Given the description of an element on the screen output the (x, y) to click on. 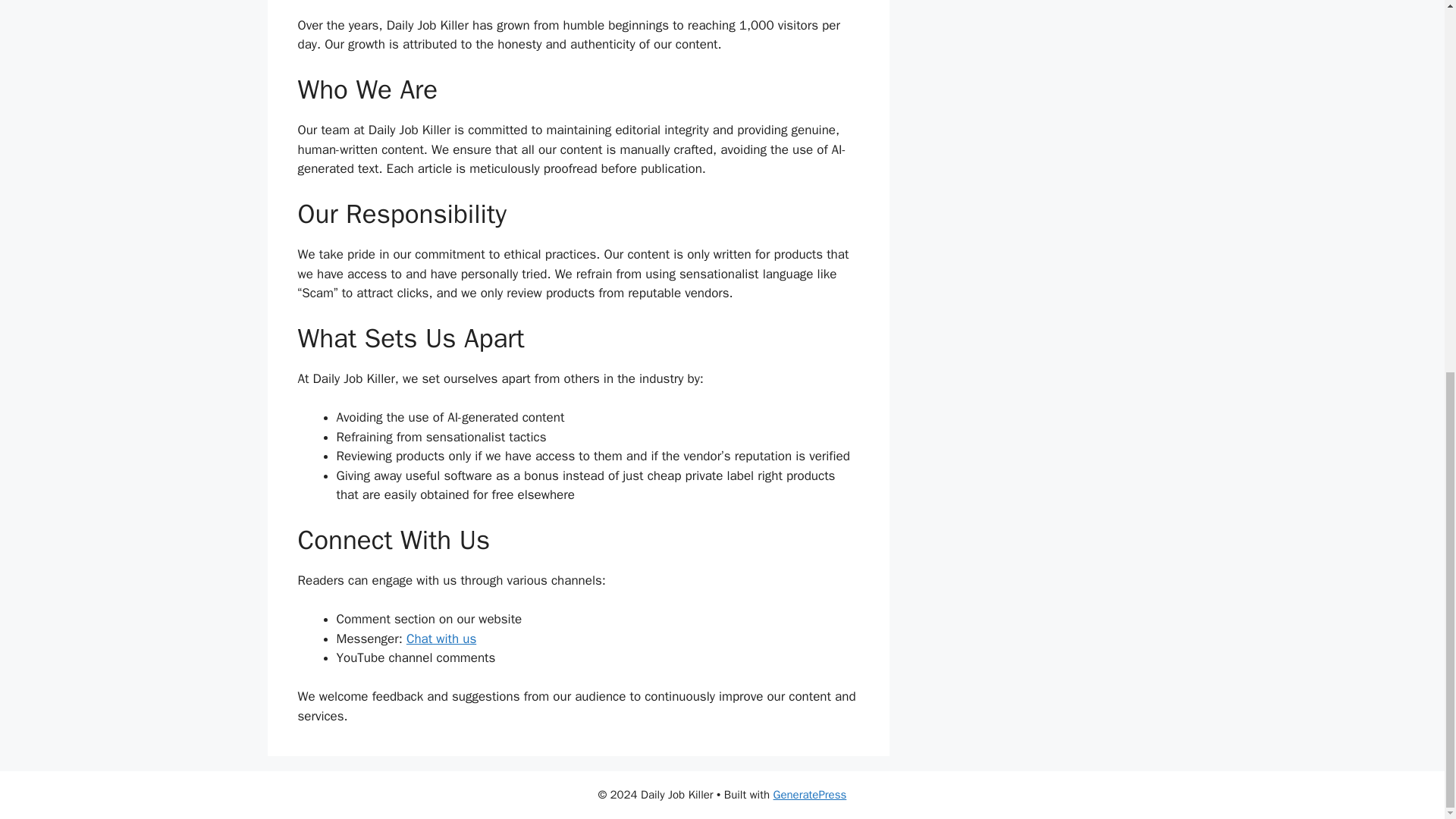
GeneratePress (810, 794)
Chat with us (441, 638)
